Given the description of an element on the screen output the (x, y) to click on. 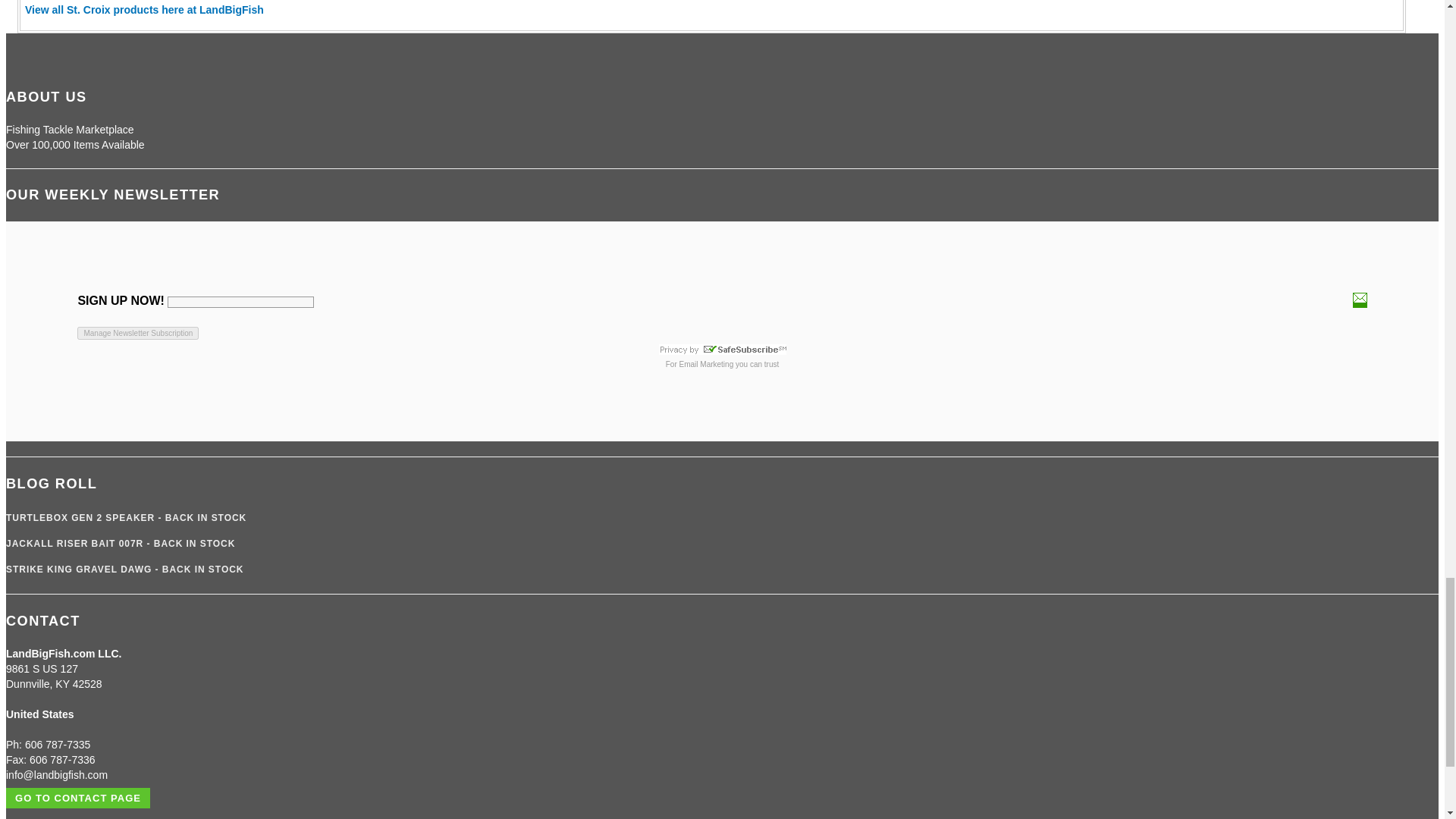
Manage Newsletter Subscription (137, 332)
